Given the description of an element on the screen output the (x, y) to click on. 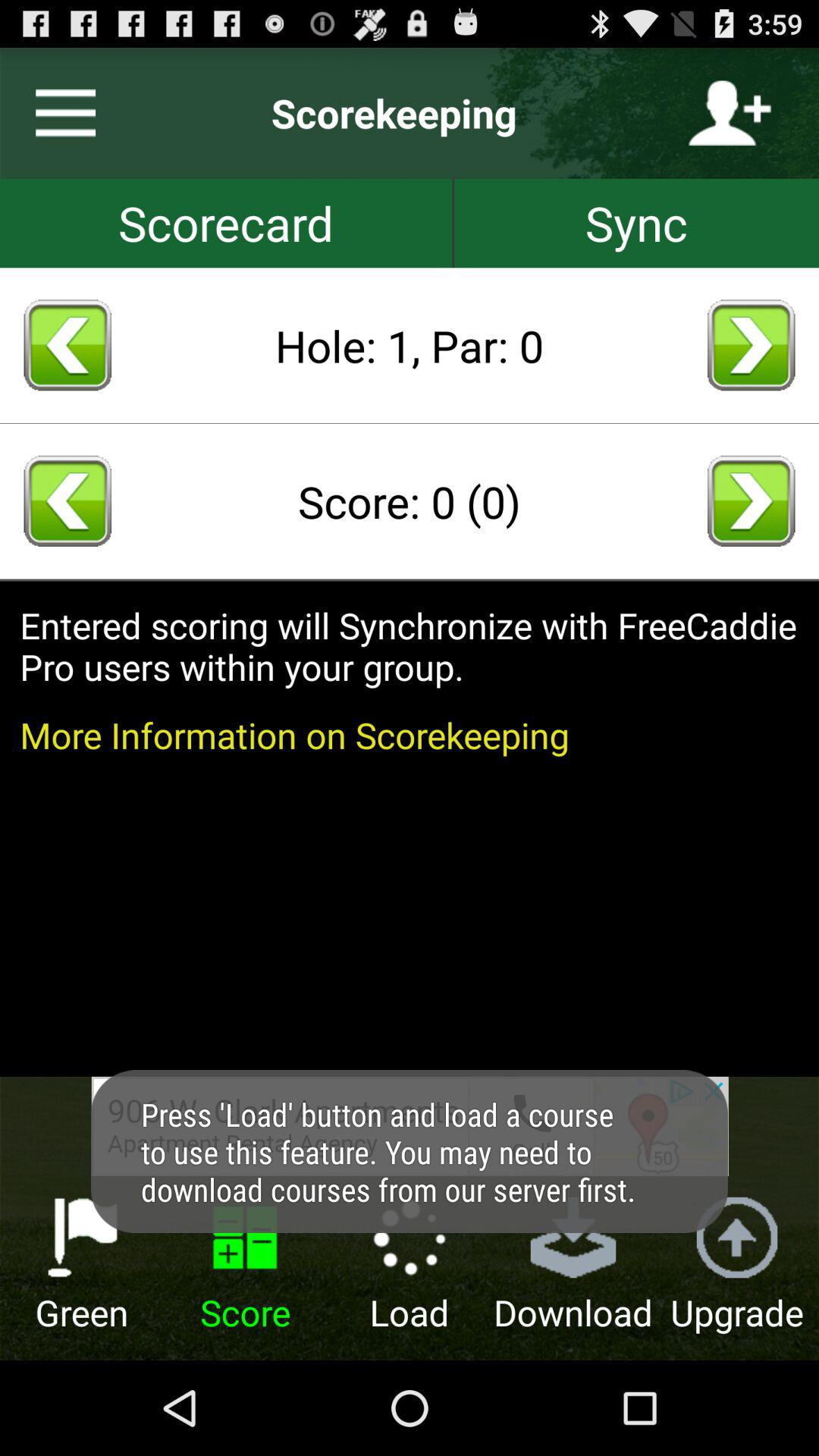
return score (67, 500)
